Given the description of an element on the screen output the (x, y) to click on. 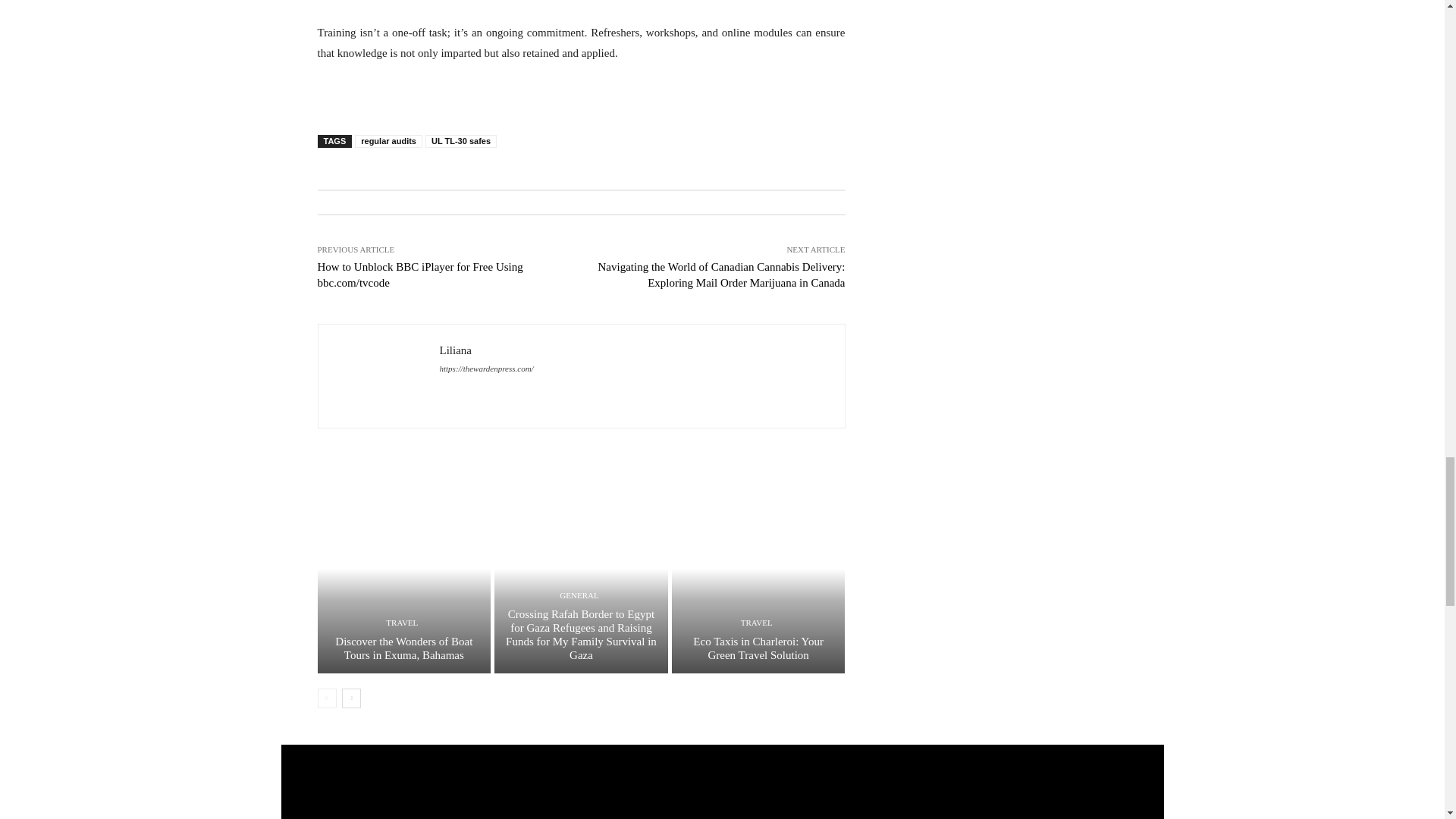
UL TL-30 safes (460, 141)
Liliana (379, 375)
regular audits (388, 141)
Discover the Wonders of Boat Tours in Exuma, Bahamas (402, 647)
